Given the description of an element on the screen output the (x, y) to click on. 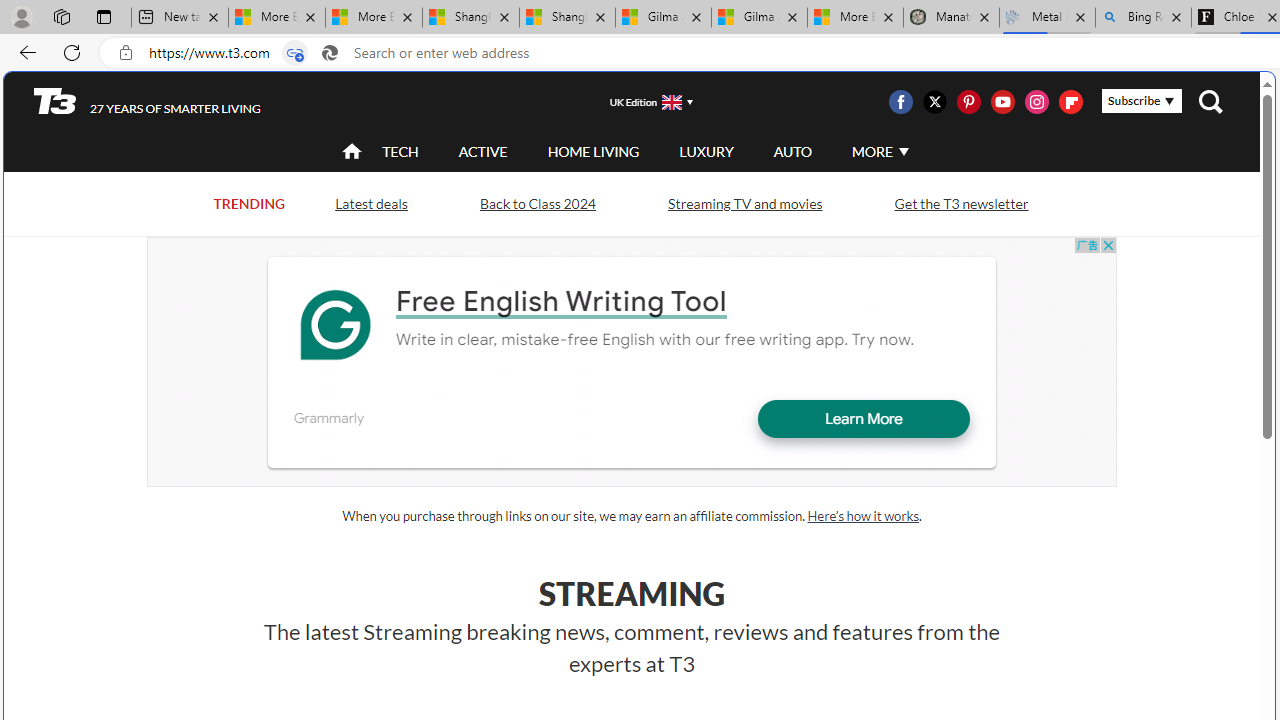
UK Edition (643, 101)
ACTIVE (483, 151)
Search icon (329, 53)
Get the T3 newsletter (961, 202)
New tab (179, 17)
Workspaces (61, 16)
Streaming TV and movies (744, 204)
TECH (399, 151)
Latest deals (370, 204)
LUXURY (705, 151)
HOME LIVING (593, 151)
Gilma and Hector both pose tropical trouble for Hawaii (759, 17)
Visit us on Twitter (934, 101)
Visit us on Pintrest (968, 101)
Manatee Mortality Statistics | FWC (951, 17)
